Given the description of an element on the screen output the (x, y) to click on. 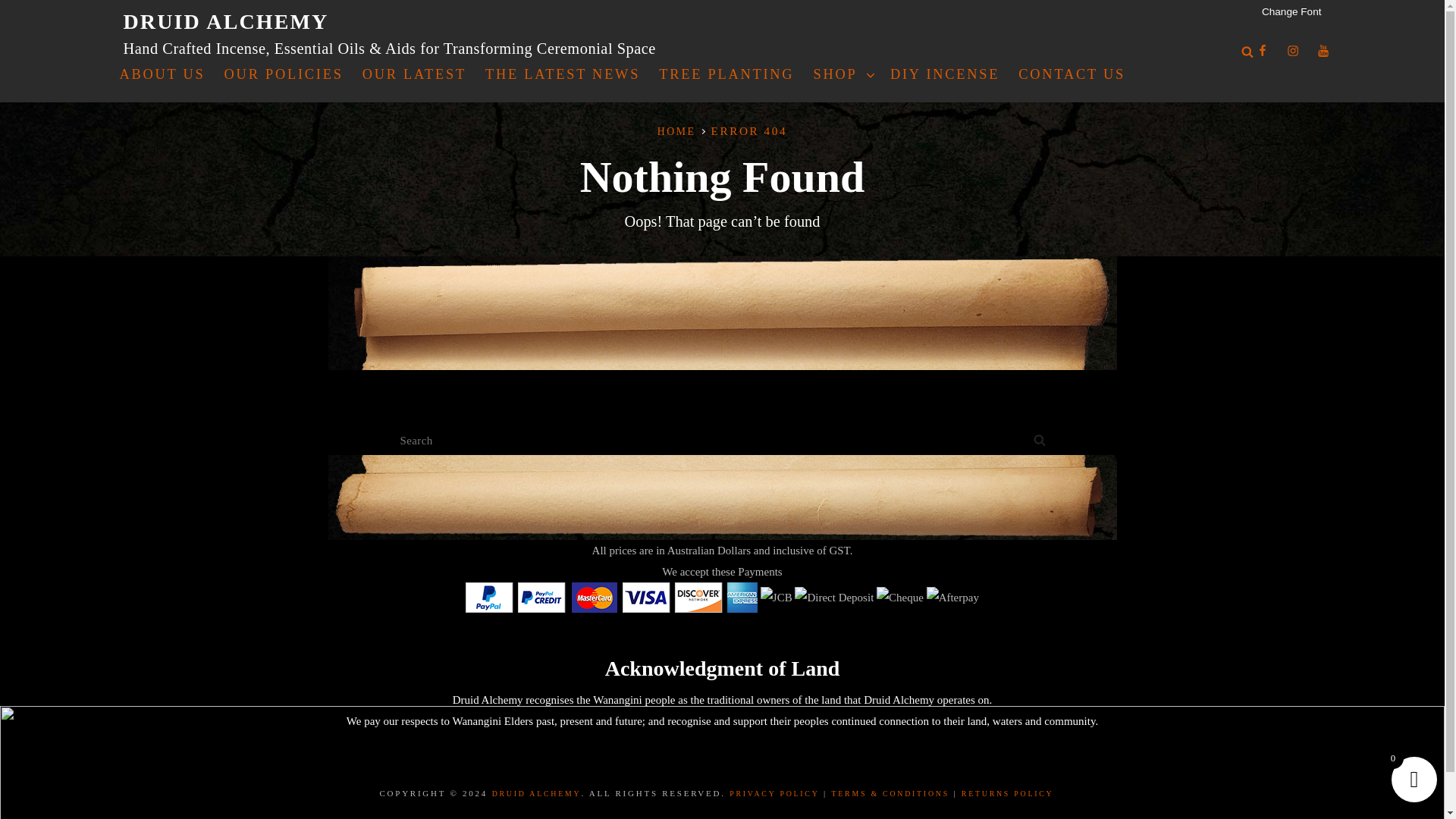
HOME (676, 131)
DIY INCENSE (944, 74)
OUR LATEST (414, 74)
PRIVACY POLICY (773, 793)
TREE PLANTING (726, 74)
Afterpay (952, 597)
Direct Deposit (833, 597)
Search (1038, 440)
DRUID ALCHEMY (536, 793)
